Given the description of an element on the screen output the (x, y) to click on. 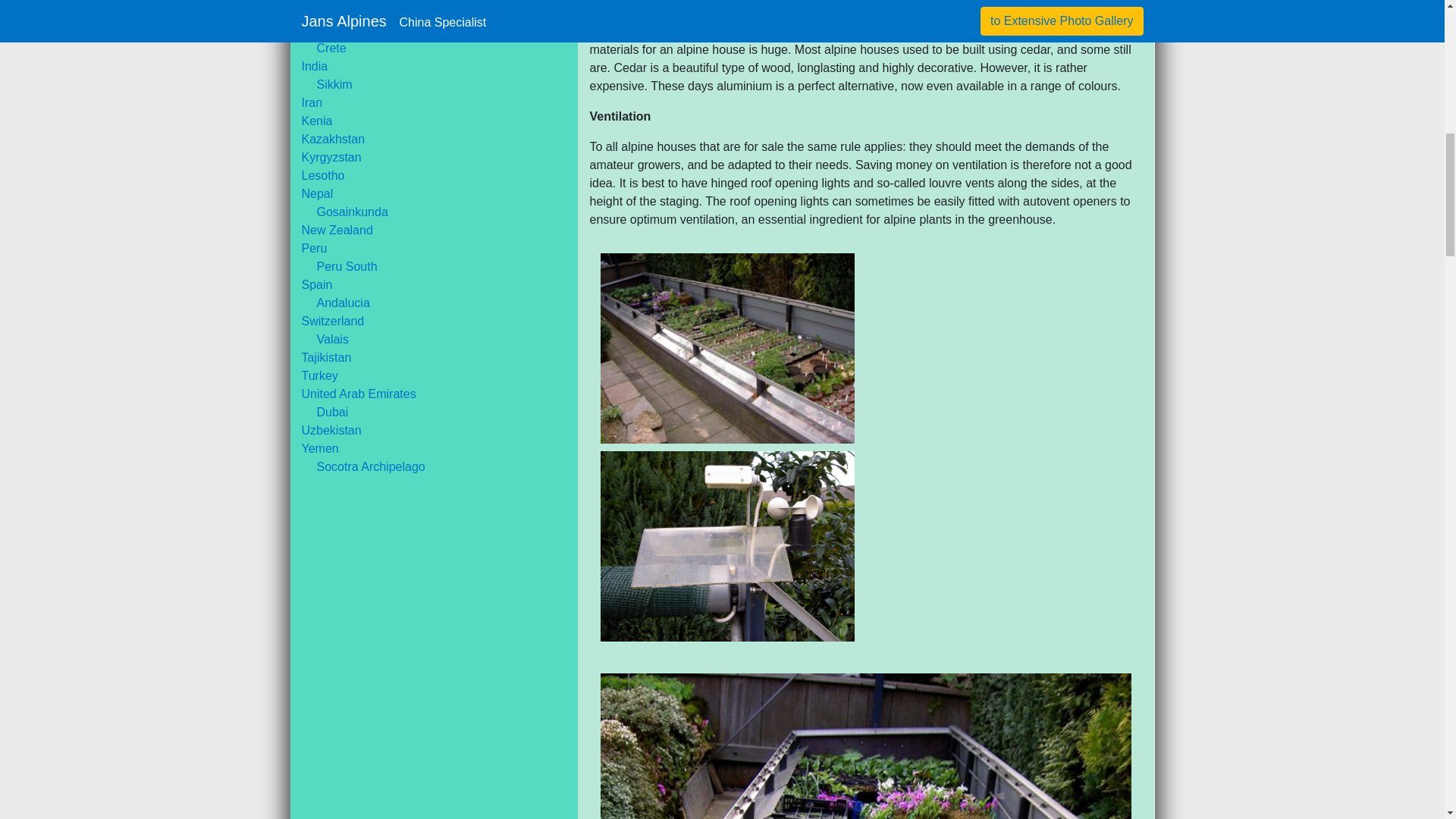
cold frame (726, 348)
